Given the description of an element on the screen output the (x, y) to click on. 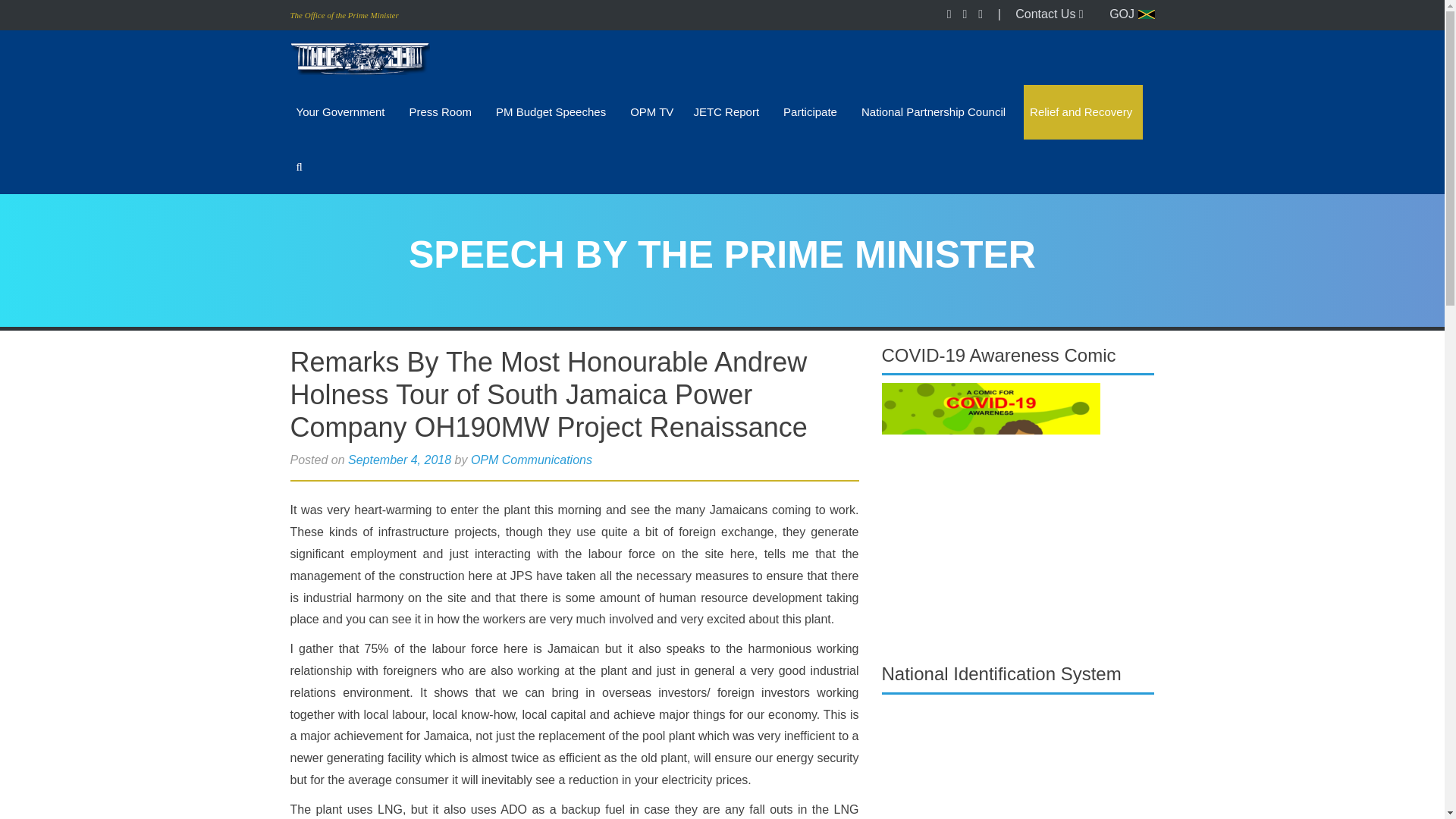
JETC Report (728, 112)
Contact Us (1048, 13)
OPM TV (651, 112)
PM Budget Speeches (552, 112)
Your Government (341, 112)
Participate (812, 112)
Press Room (443, 112)
